Given the description of an element on the screen output the (x, y) to click on. 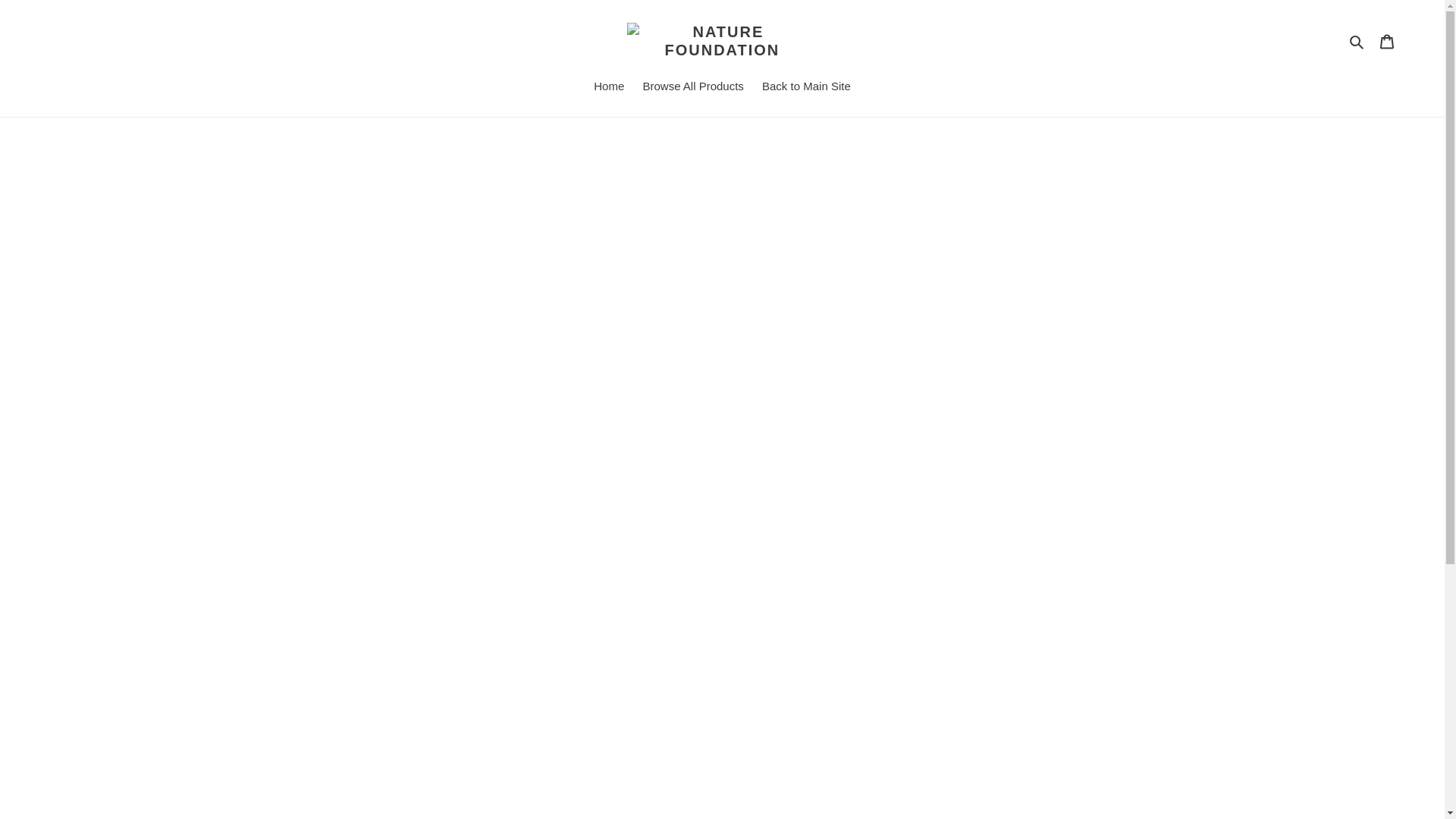
Browse All Products Element type: text (692, 87)
Cart Element type: text (1386, 41)
Home Element type: text (608, 87)
Back to Main Site Element type: text (806, 87)
Search Element type: text (1357, 40)
